Given the description of an element on the screen output the (x, y) to click on. 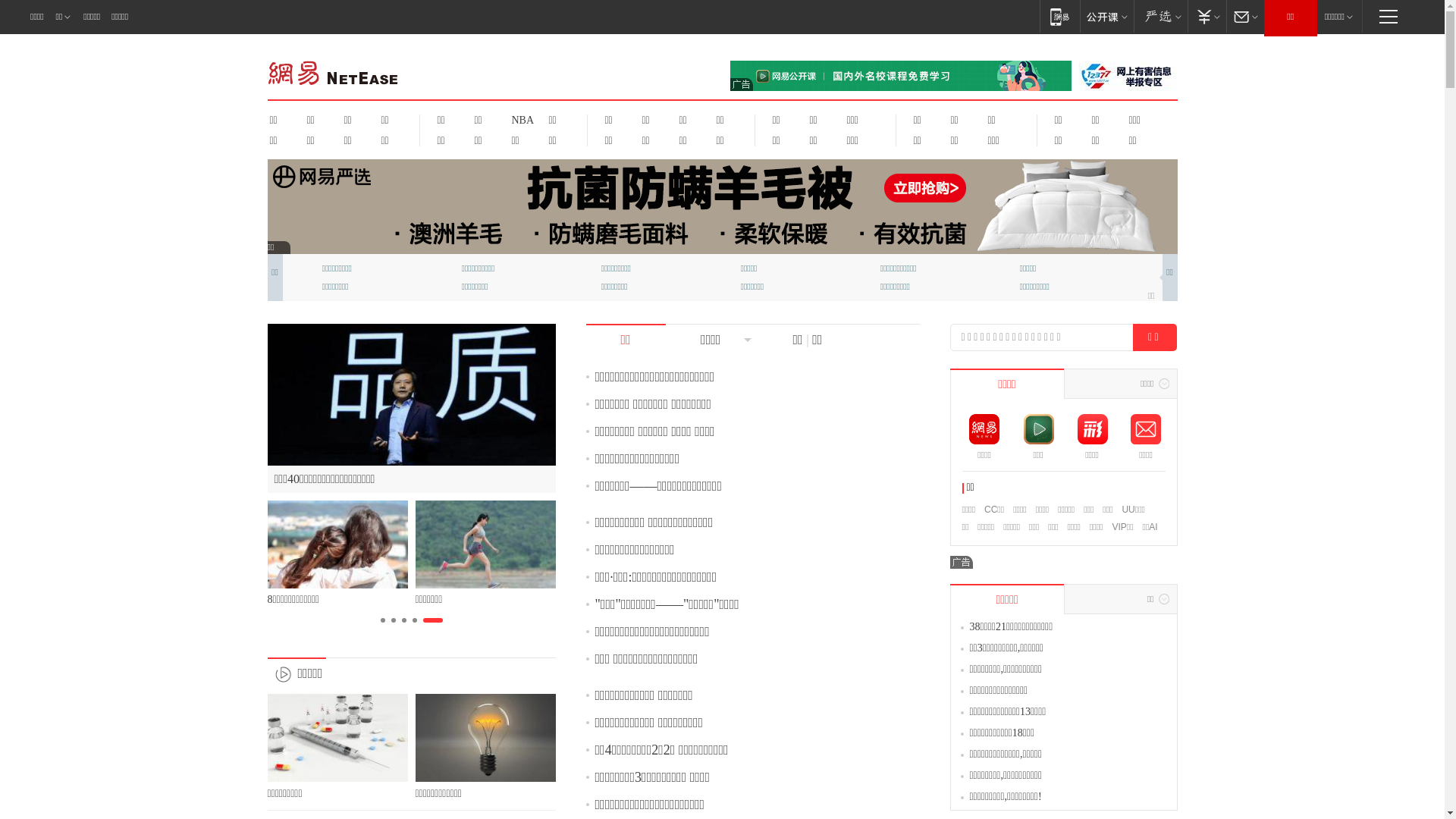
NBA Element type: text (520, 119)
